Given the description of an element on the screen output the (x, y) to click on. 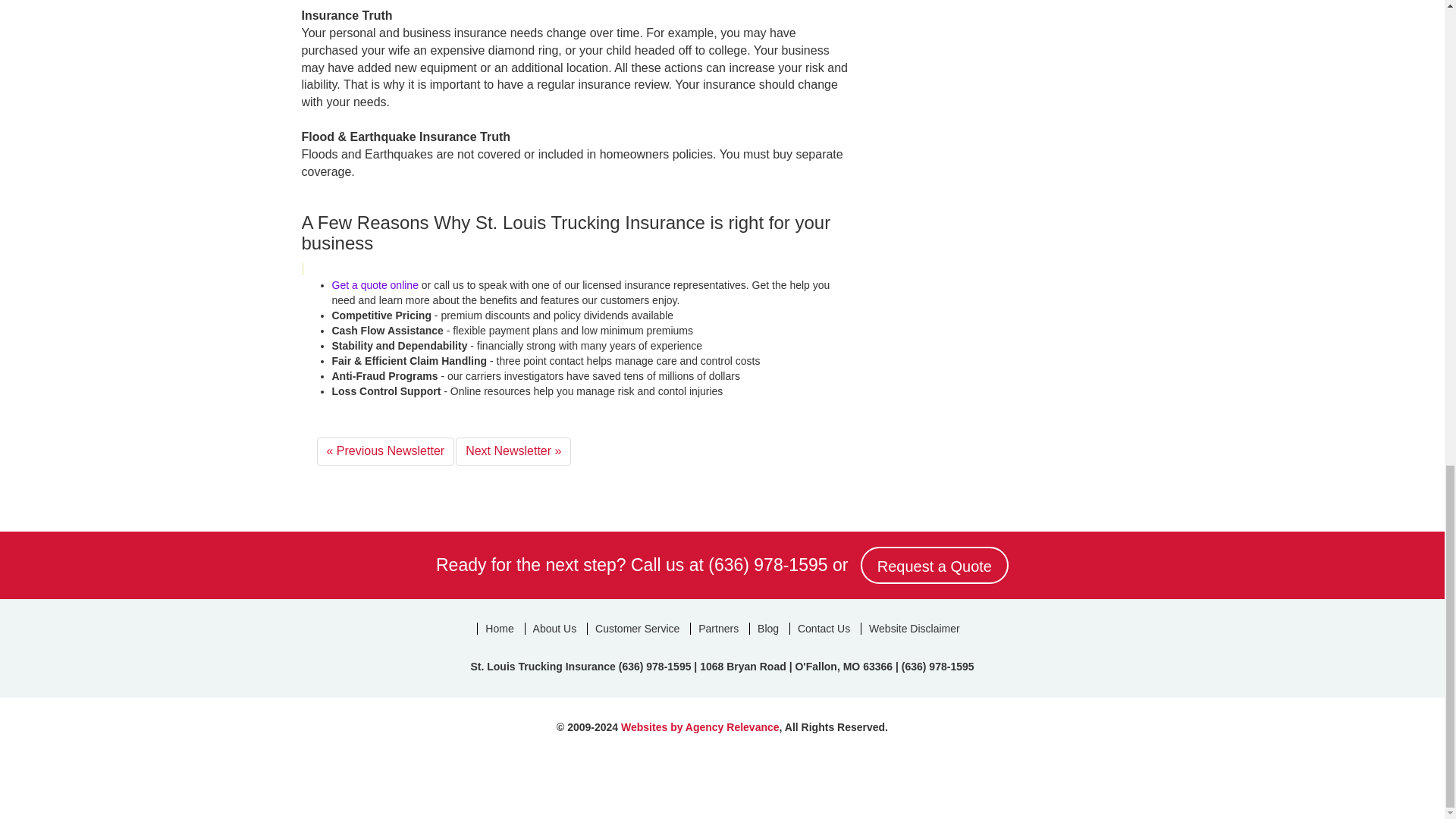
Partners (717, 628)
Blog (767, 628)
About Us (554, 628)
Request a Quote (934, 565)
Contact Us (823, 628)
Home (499, 628)
Get a quote online (375, 285)
Websites by Agency Relevance (699, 727)
Website Disclaimer (914, 628)
Customer Service (636, 628)
